Given the description of an element on the screen output the (x, y) to click on. 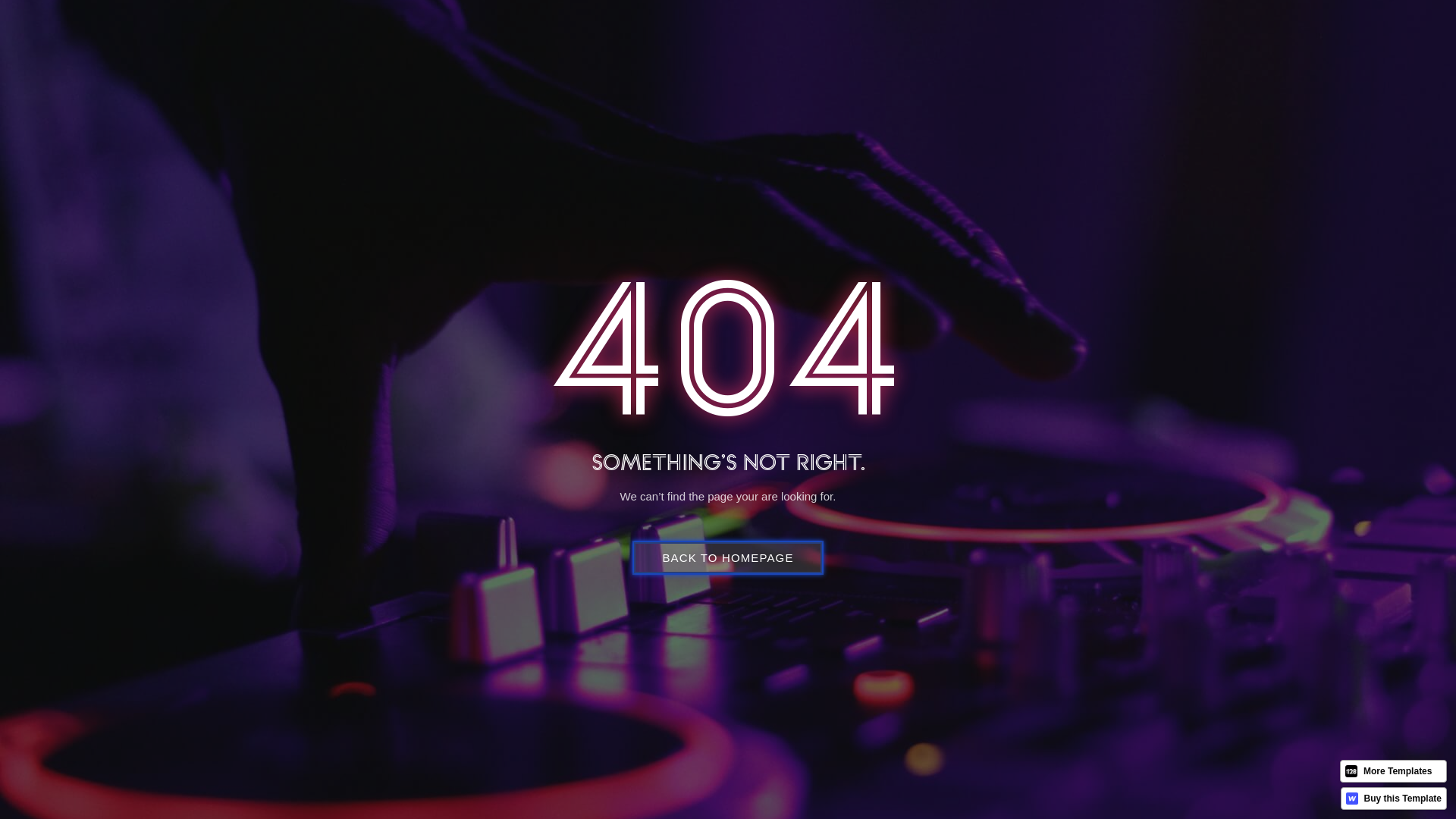
BACK TO HOMEPAGE Element type: text (727, 556)
More Templates Element type: text (1392, 770)
Buy this Template Element type: text (1393, 798)
